Given the description of an element on the screen output the (x, y) to click on. 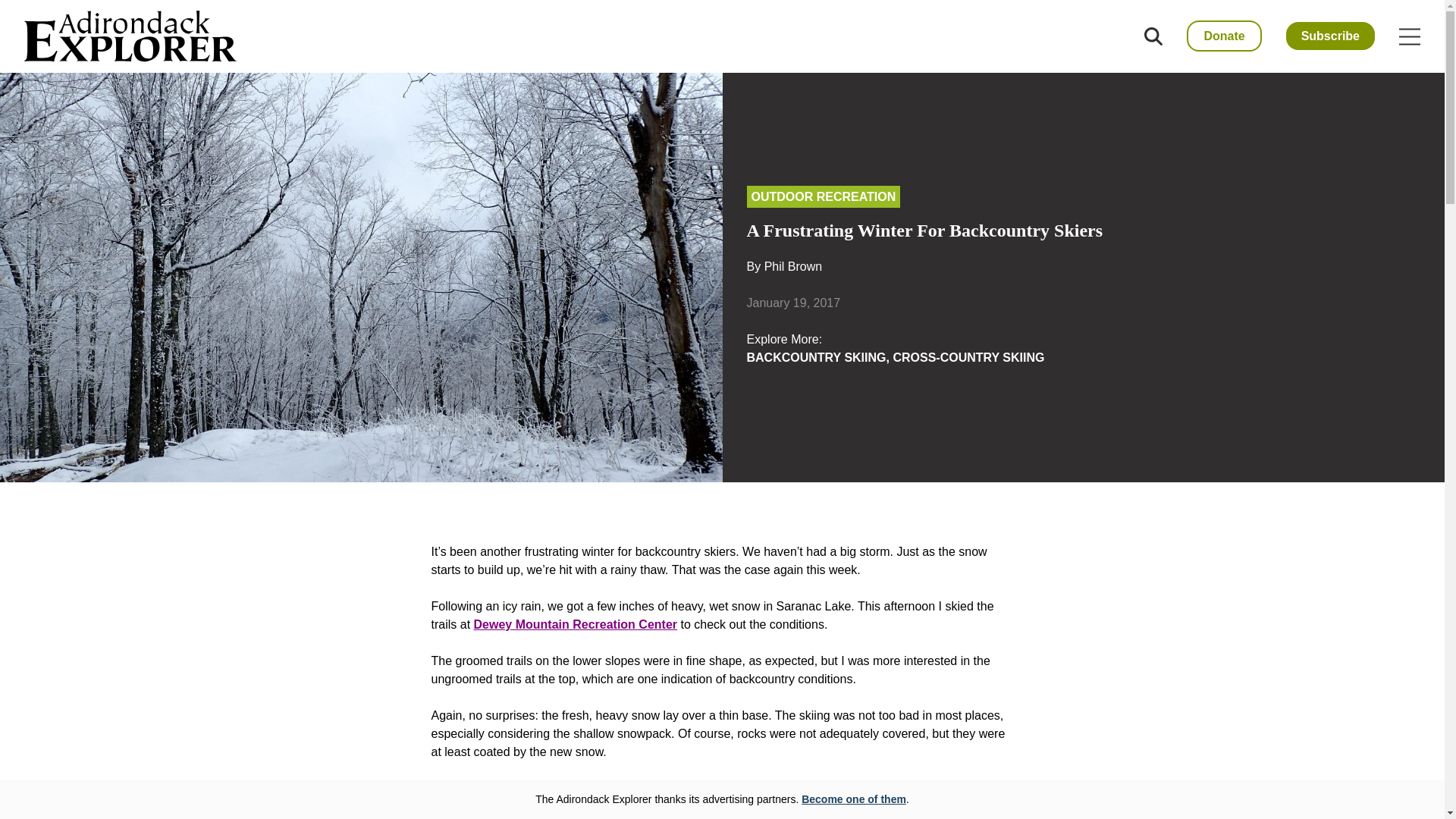
OUTDOOR RECREATION (822, 196)
Phil Brown (793, 266)
Subscribe (1329, 35)
CROSS-COUNTRY SKIING (967, 357)
BACKCOUNTRY SKIING (815, 357)
Become one of them (853, 799)
Dewey Mountain Recreation Center (576, 624)
Donate (1223, 35)
